Given the description of an element on the screen output the (x, y) to click on. 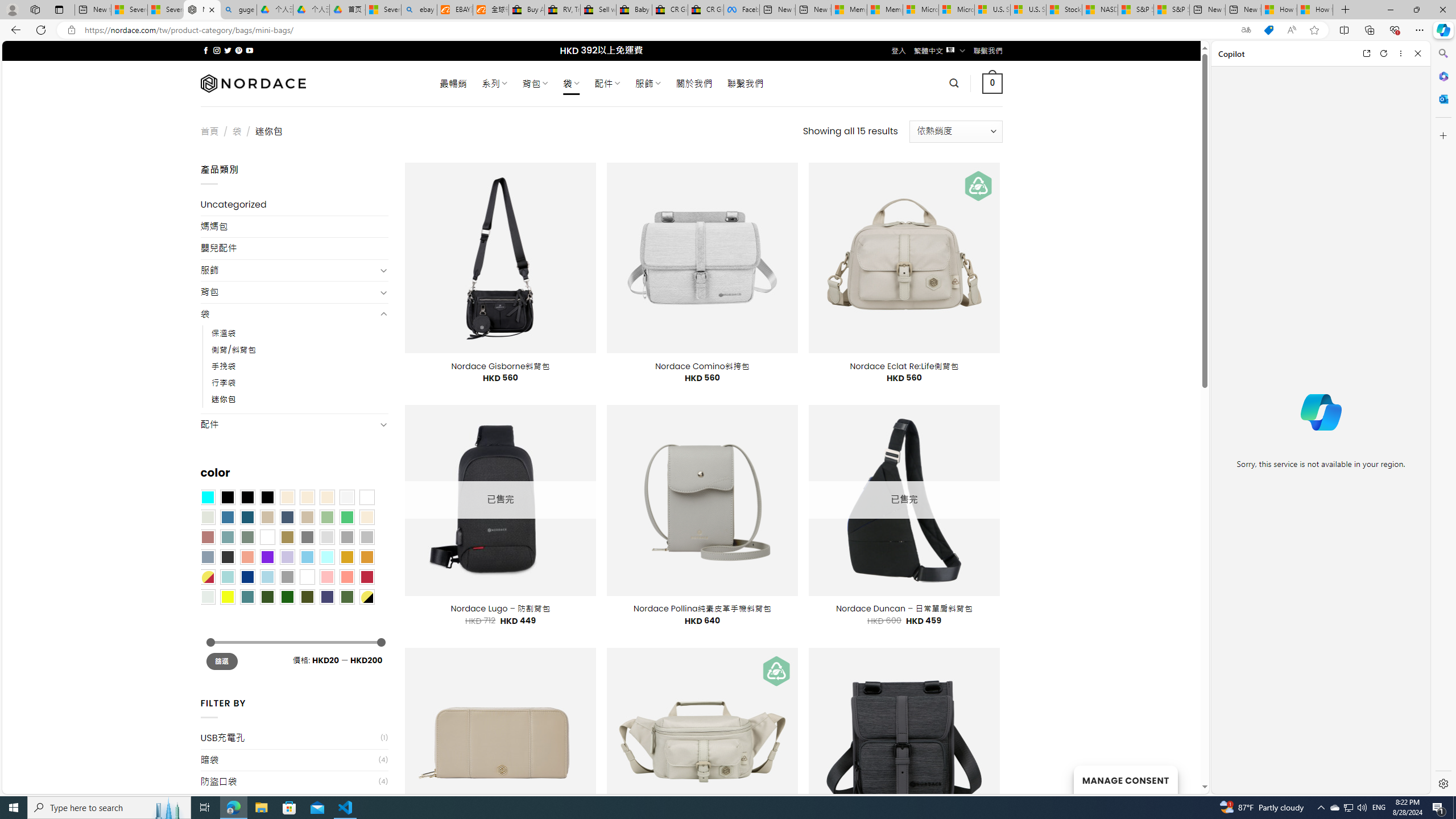
Microsoft 365 (1442, 76)
RV, Trailer & Camper Steps & Ladders for sale | eBay (562, 9)
